Given the description of an element on the screen output the (x, y) to click on. 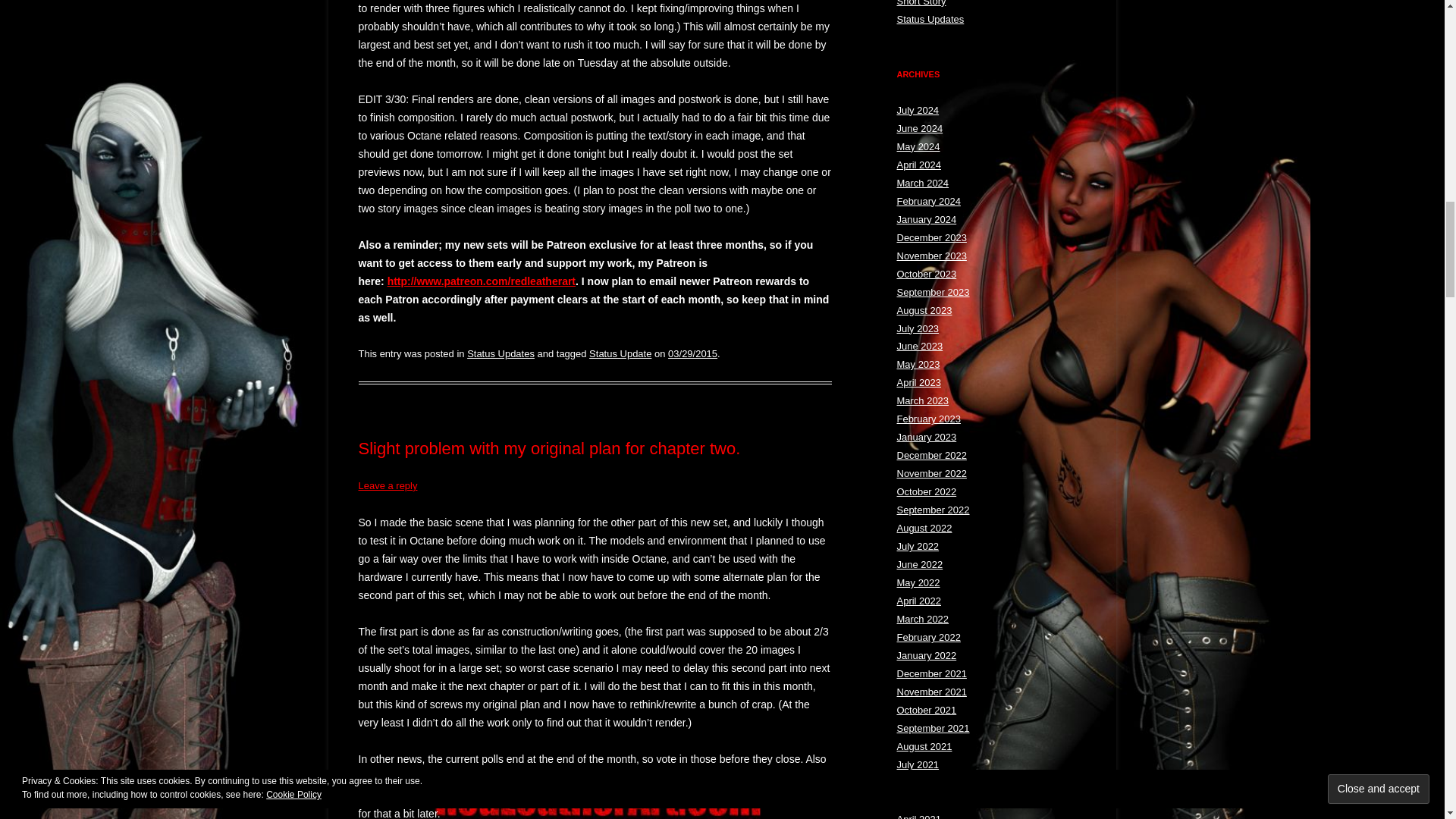
9:49 PM (692, 353)
My Patreon! (481, 281)
